Given the description of an element on the screen output the (x, y) to click on. 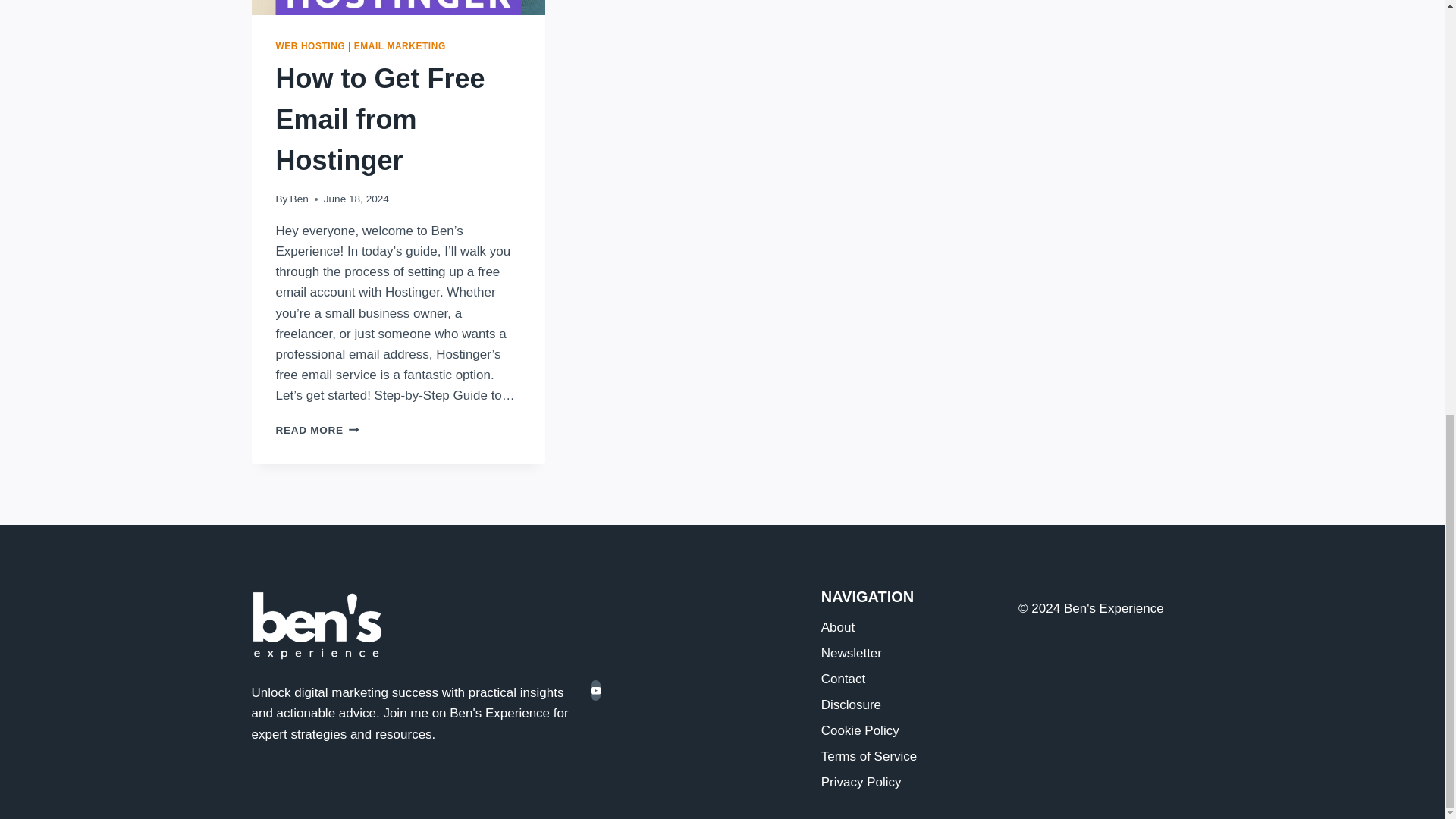
WEB HOSTING (311, 45)
About (317, 430)
Terms of Service (908, 628)
Ben (908, 757)
Newsletter (298, 198)
EMAIL MARKETING (908, 654)
How to Get Free Email from Hostinger (399, 45)
Privacy Policy (380, 119)
Contact (908, 783)
Disclosure (908, 679)
Cookie Policy (908, 705)
